Given the description of an element on the screen output the (x, y) to click on. 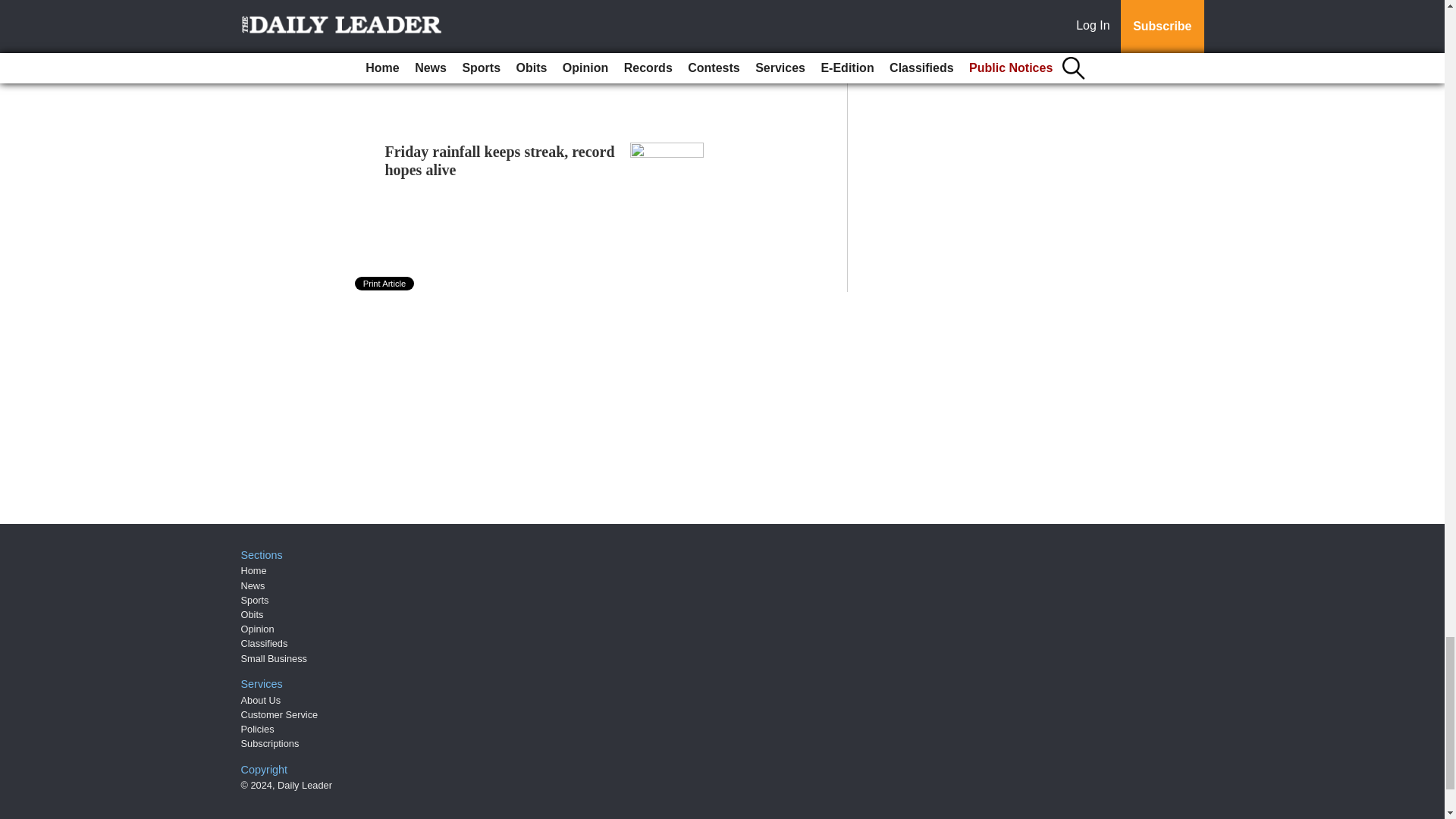
Friday rainfall keeps streak, record hopes alive (499, 160)
Friday rainfall keeps streak, record hopes alive (499, 160)
Print Article (384, 283)
